Given the description of an element on the screen output the (x, y) to click on. 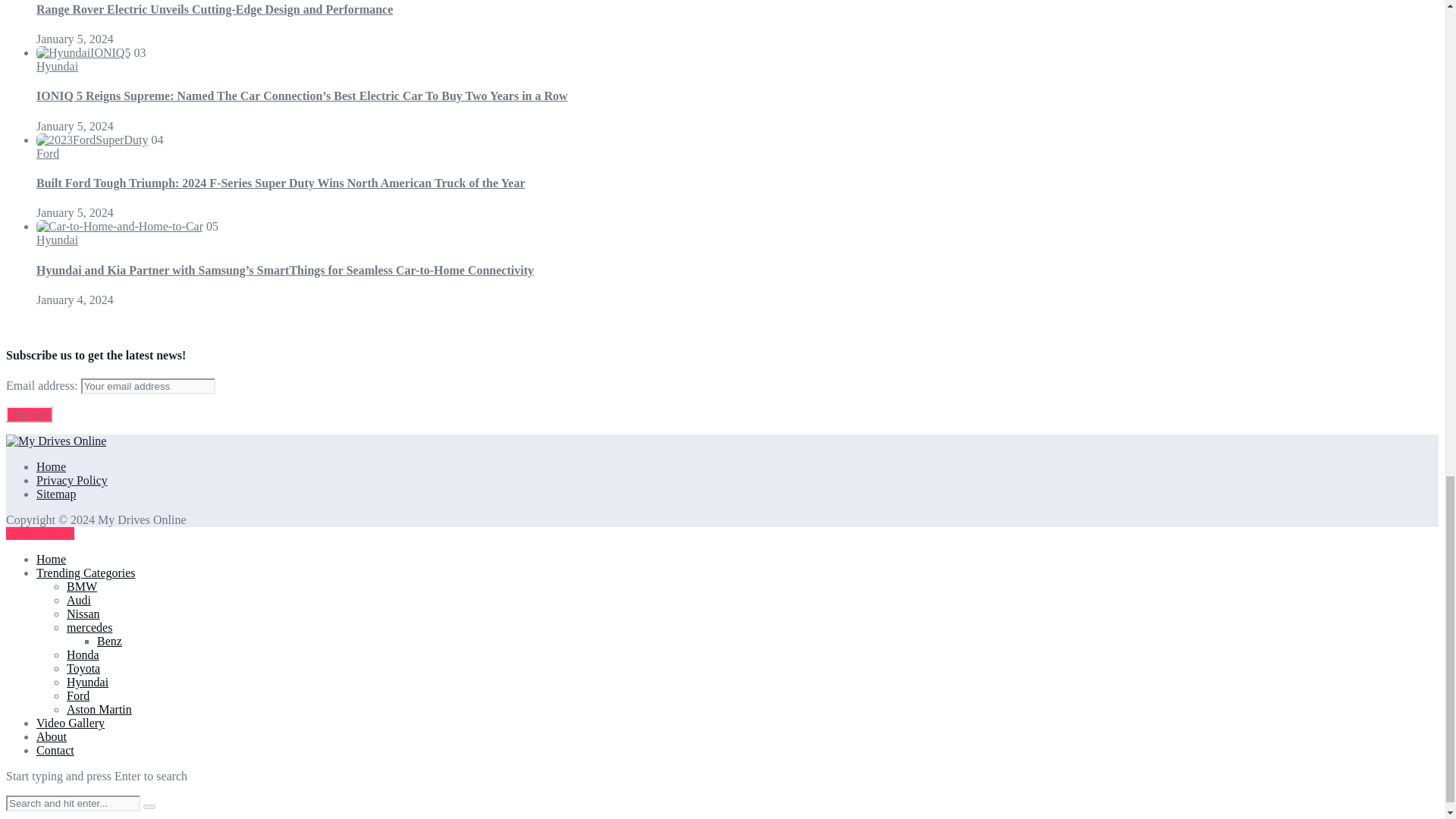
Sign up (28, 414)
